Given the description of an element on the screen output the (x, y) to click on. 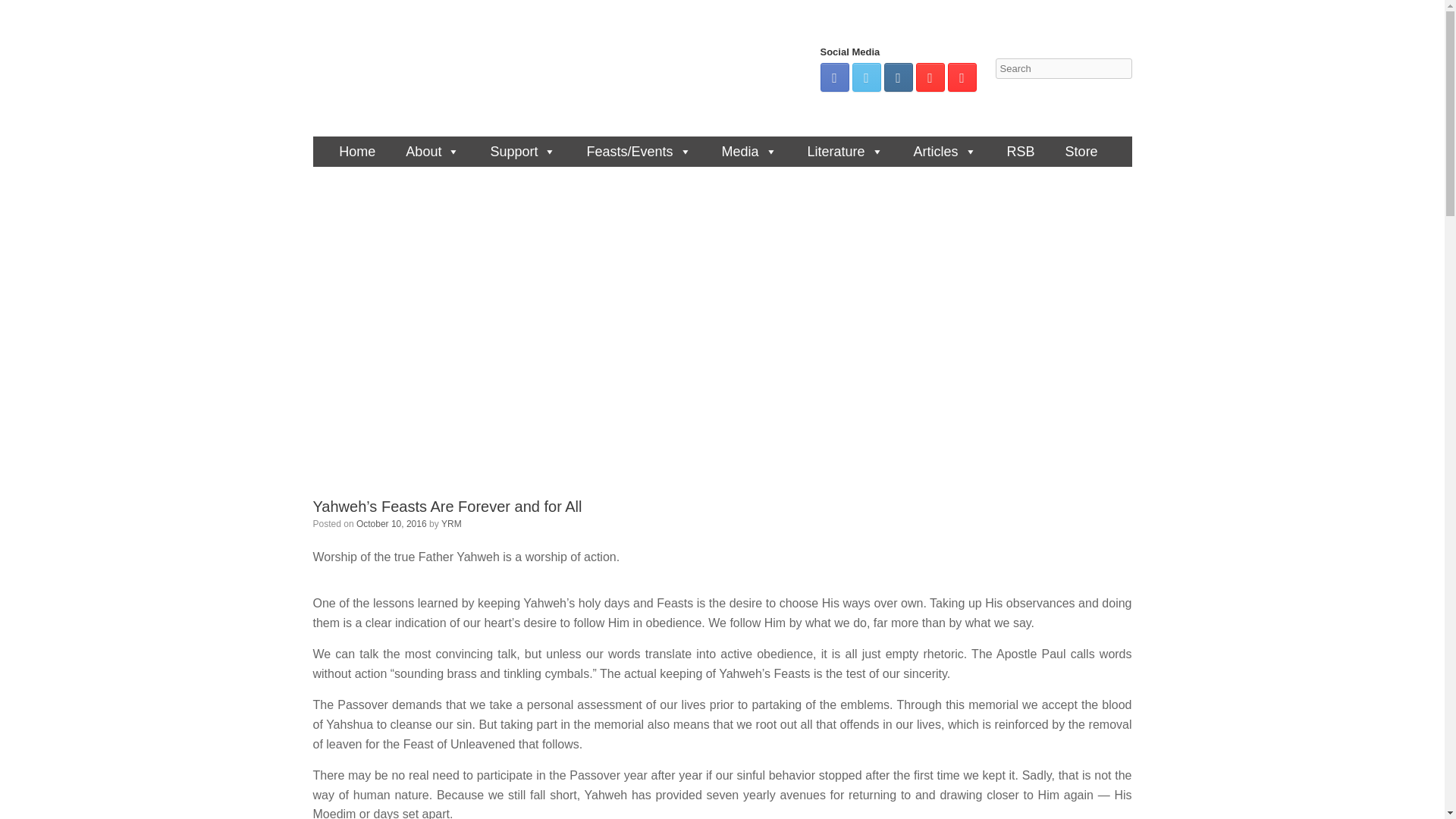
Home (352, 151)
Media (745, 151)
Yahweh's Restoration Ministry YouTube (961, 77)
Yahweh's Restoration Ministry Instagram (897, 77)
Yahweh's Restoration Ministry Facebook (834, 77)
View all posts by YRM (451, 523)
About (428, 151)
2:27 pm (391, 523)
Yahweh's Restoration Ministry Pinterest (929, 77)
Yahweh's Restoration Ministry (502, 68)
